Given the description of an element on the screen output the (x, y) to click on. 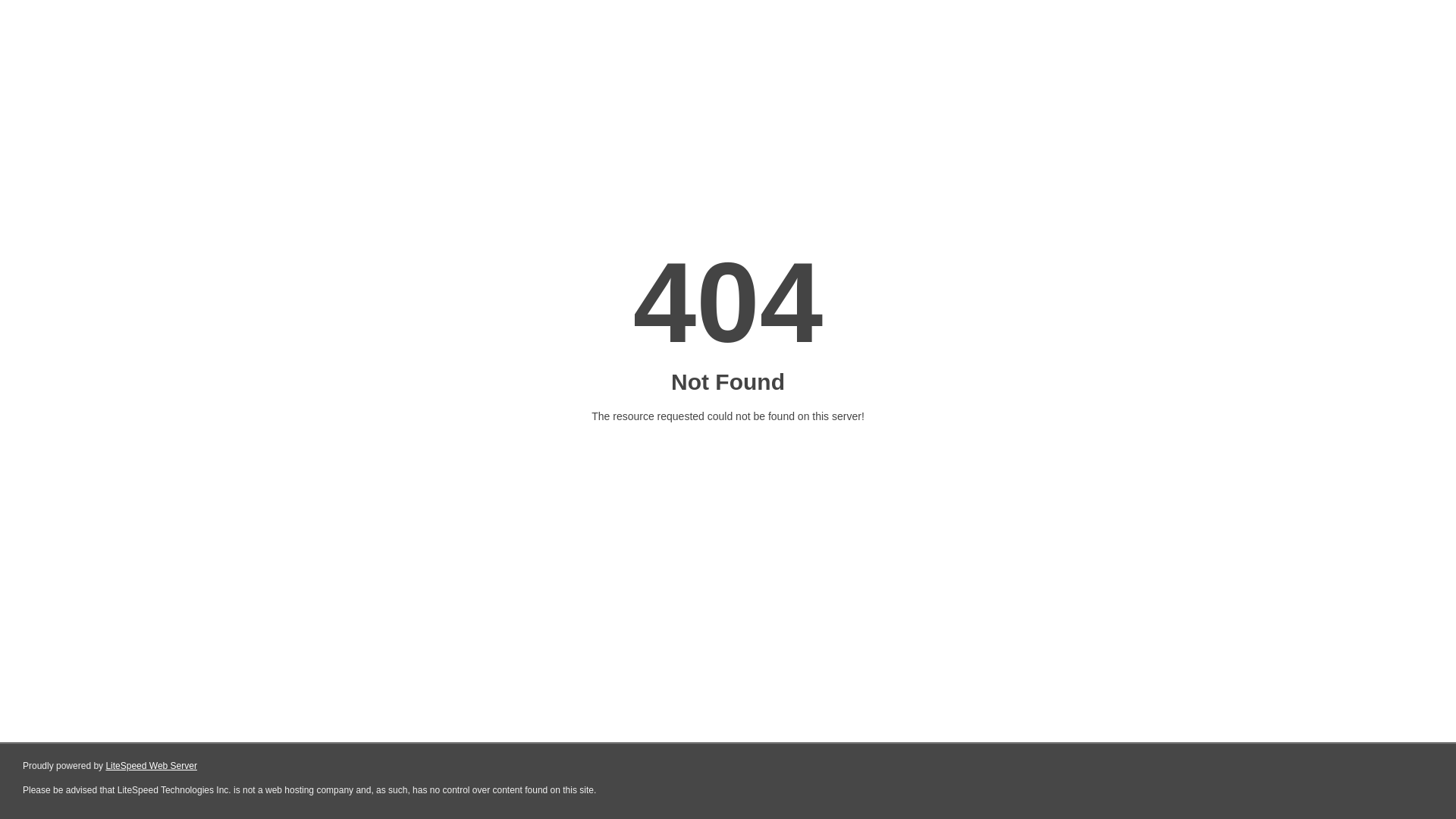
LiteSpeed Web Server Element type: text (151, 765)
